Given the description of an element on the screen output the (x, y) to click on. 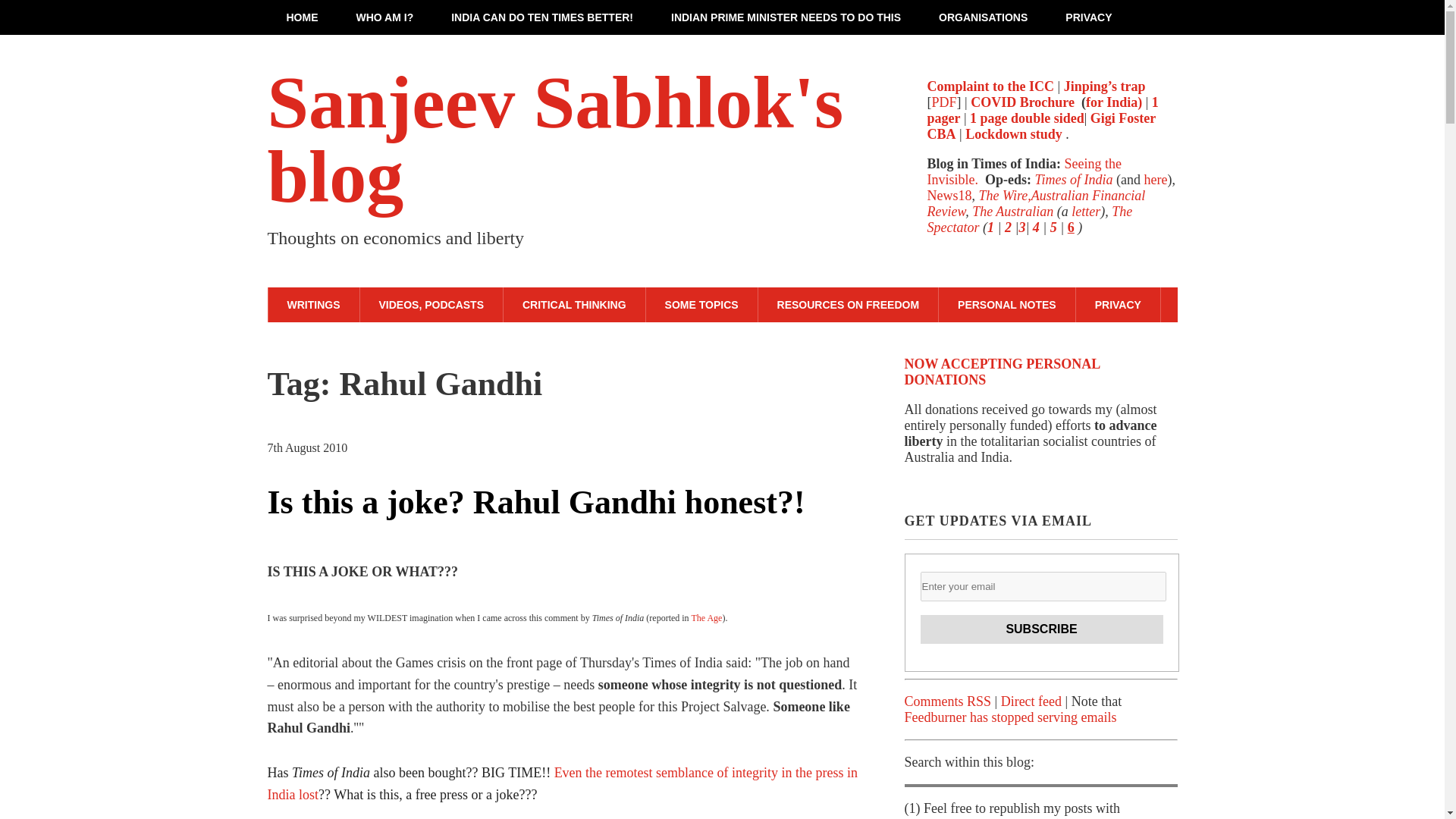
here (1155, 179)
INDIA CAN DO TEN TIMES BETTER! (542, 17)
WHO AM I? (384, 17)
PRIVACY (1088, 17)
Sanjeev Sabhlok's blog (554, 139)
Lockdown study (1013, 133)
INDIAN PRIME MINISTER NEEDS TO DO THIS (786, 17)
ORGANISATIONS (983, 17)
HOME (301, 17)
Complaint to the ICC (990, 86)
